Given the description of an element on the screen output the (x, y) to click on. 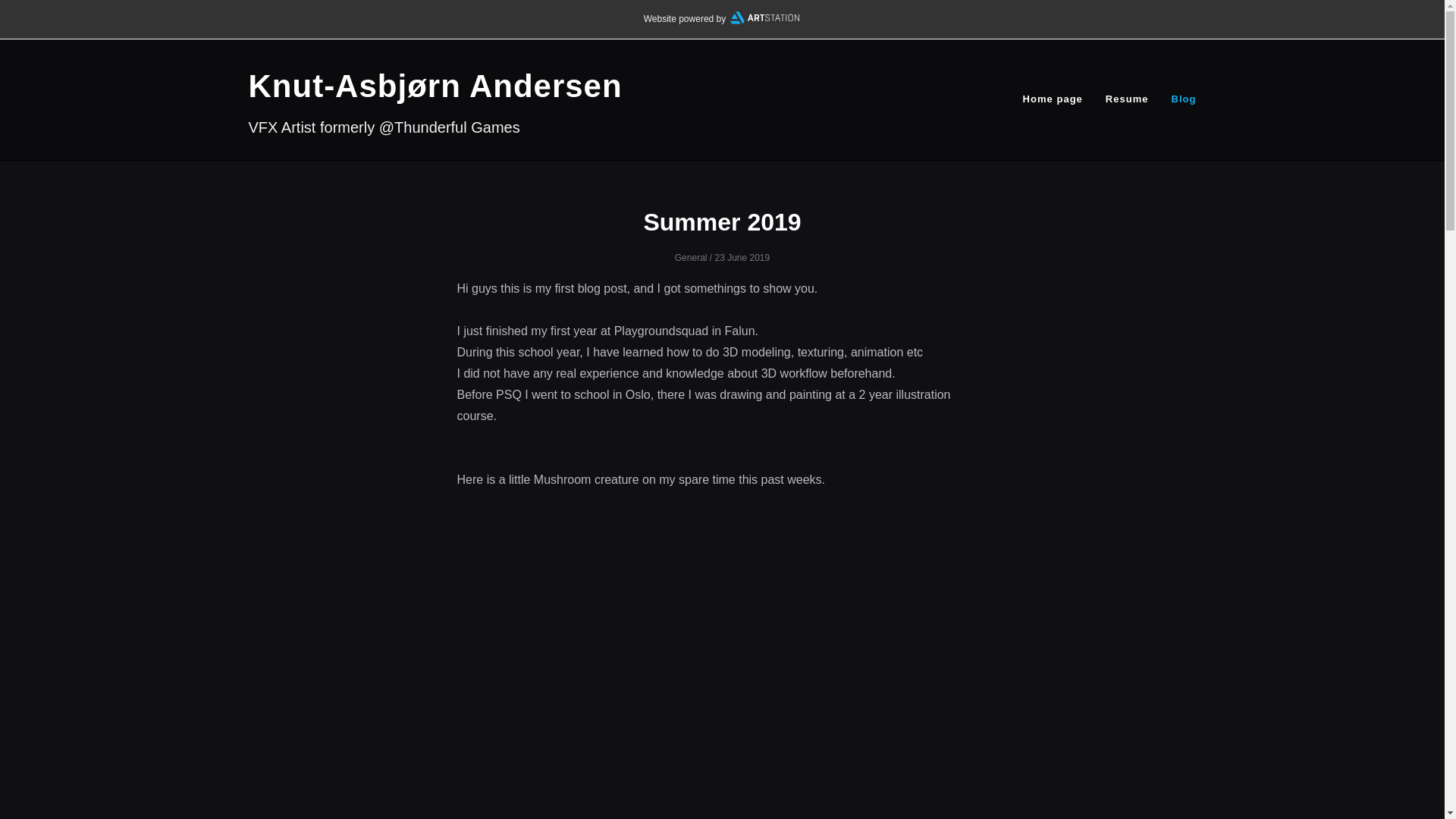
Resume (1126, 98)
Home page (1053, 98)
Summer 2019 (721, 221)
General (691, 257)
Blog (1184, 98)
